Given the description of an element on the screen output the (x, y) to click on. 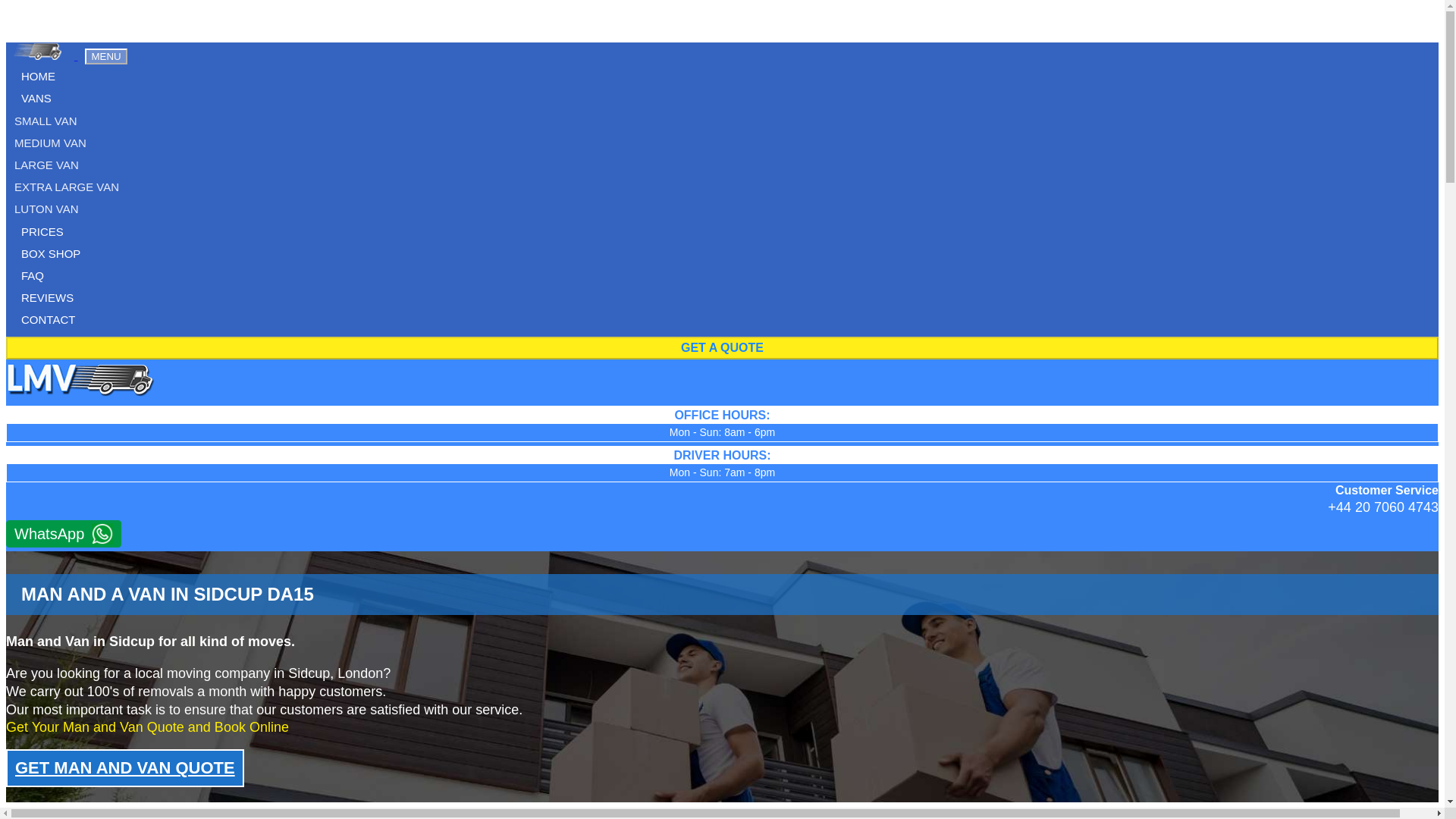
WhatsApp (62, 533)
MENU (105, 56)
Call MAN VAN BIZ (1382, 507)
VANS (36, 98)
LUTON VAN (721, 209)
Box Shop (50, 253)
MAN VAN BIZ (43, 50)
PRICES (42, 231)
GET MAN AND VAN QUOTE (124, 768)
Frequently Asked Questions (31, 275)
